Given the description of an element on the screen output the (x, y) to click on. 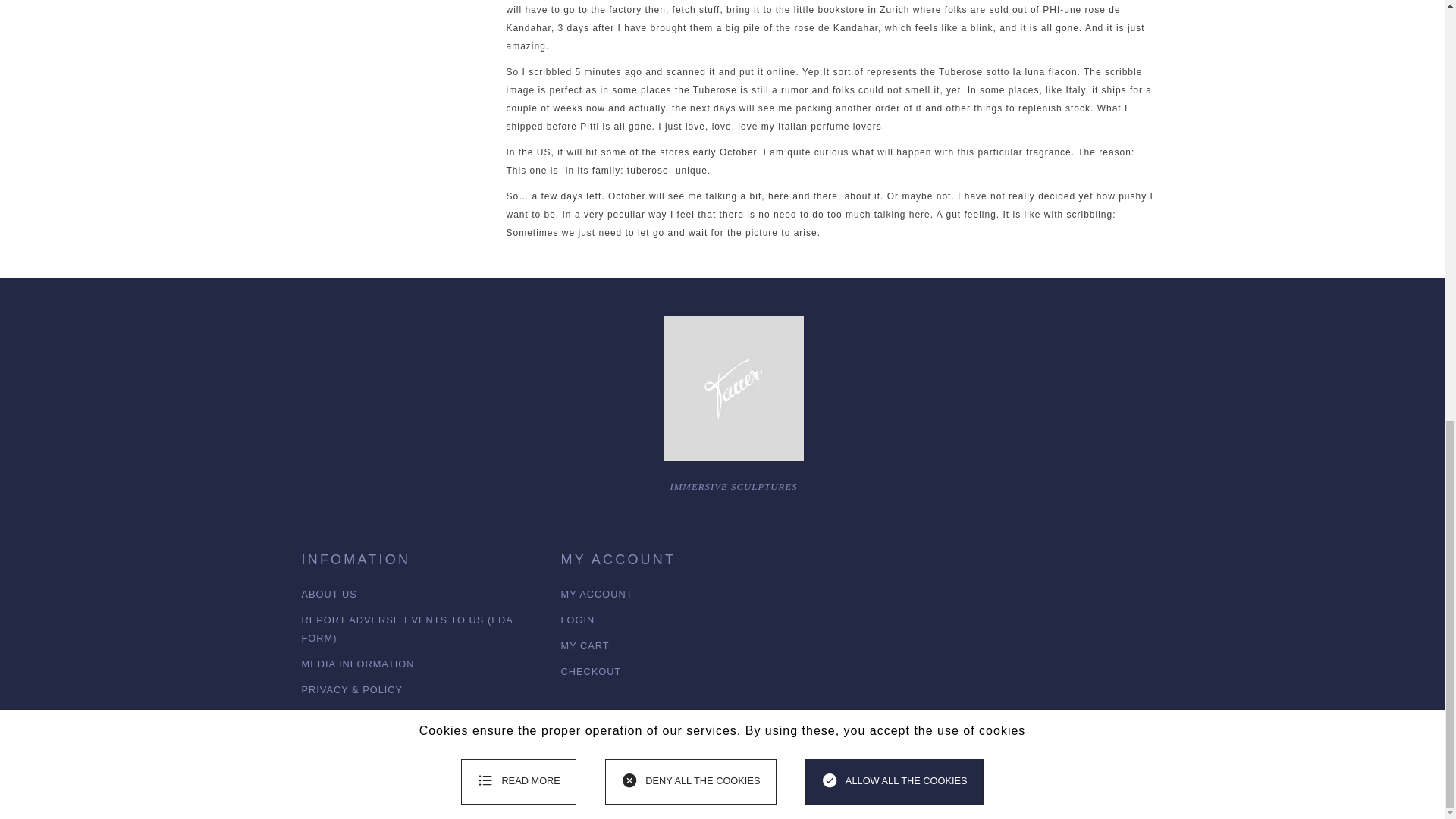
MEDIA INFORMATION (357, 663)
ABOUT US (328, 593)
